Given the description of an element on the screen output the (x, y) to click on. 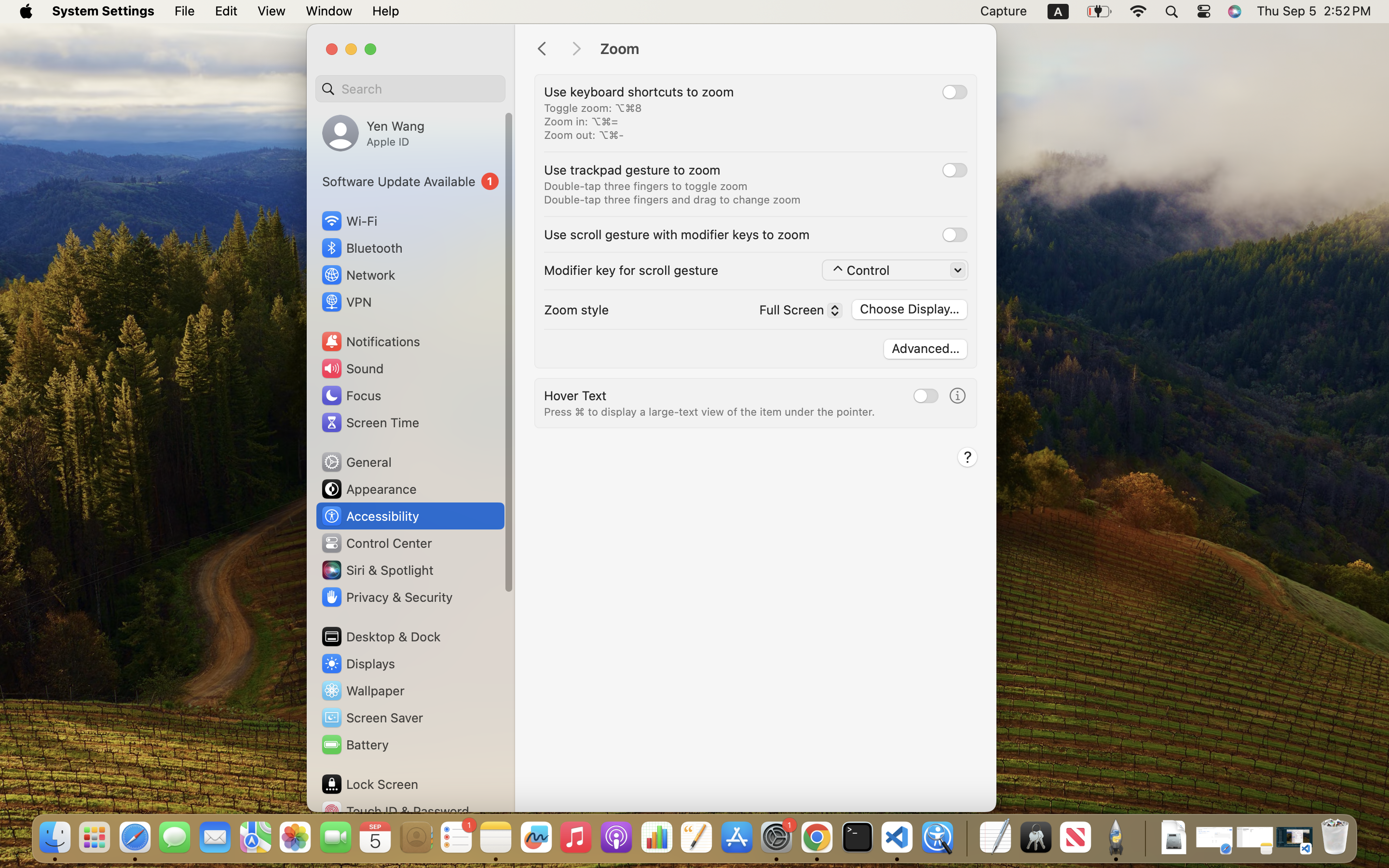
⌃ Control Element type: AXComboBox (895, 270)
Screen Saver Element type: AXStaticText (371, 717)
VPN Element type: AXStaticText (345, 301)
Lock Screen Element type: AXStaticText (369, 783)
Press ⌘ to display a large-text view of the item under the pointer. Element type: AXStaticText (709, 411)
